Given the description of an element on the screen output the (x, y) to click on. 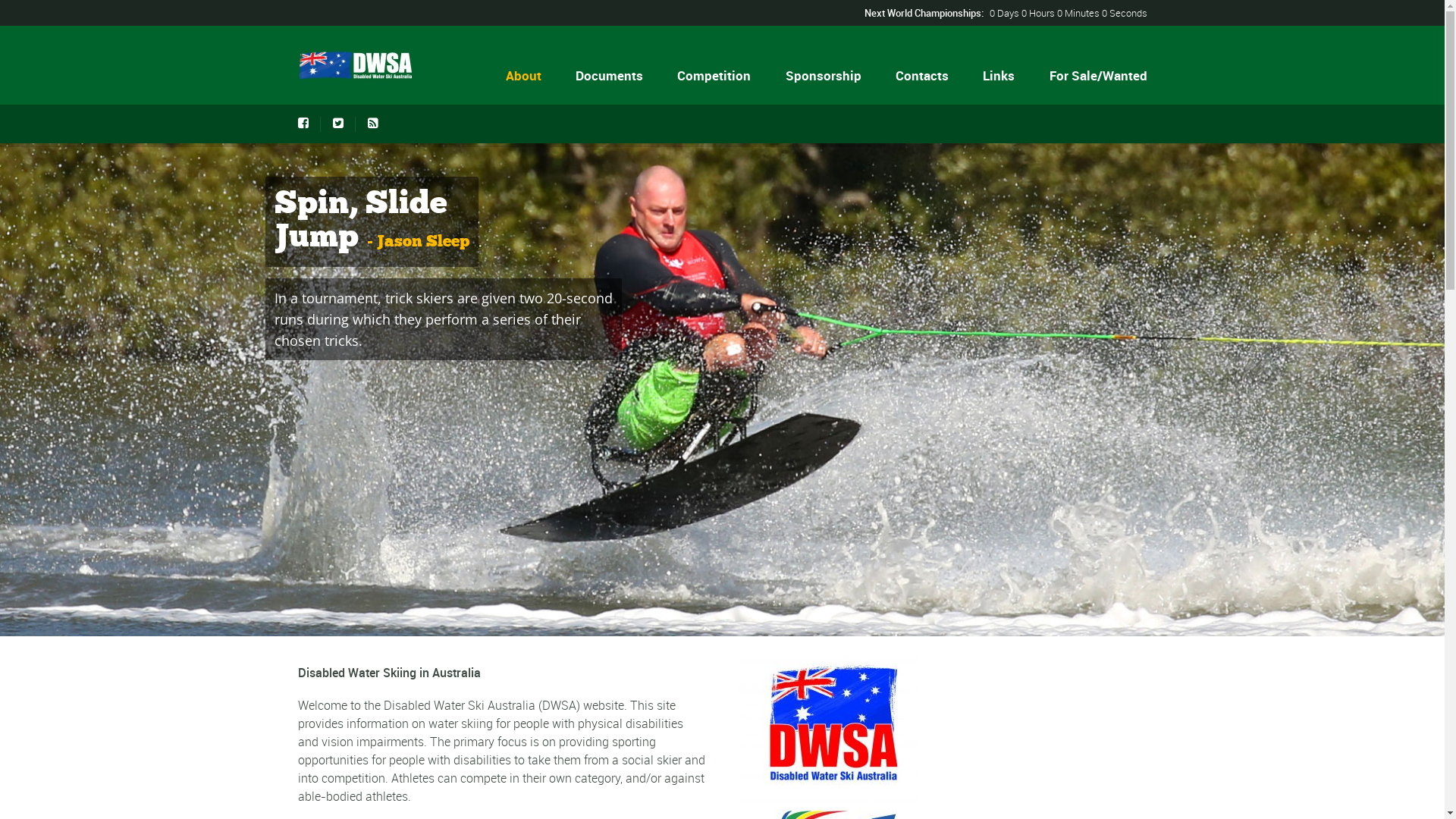
Competition Element type: text (714, 75)
Sponsorship Element type: text (822, 75)
About Element type: text (523, 75)
Documents Element type: text (609, 75)
Contacts Element type: text (922, 75)
Links Element type: text (998, 75)
For Sale/Wanted Element type: text (1095, 75)
